Given the description of an element on the screen output the (x, y) to click on. 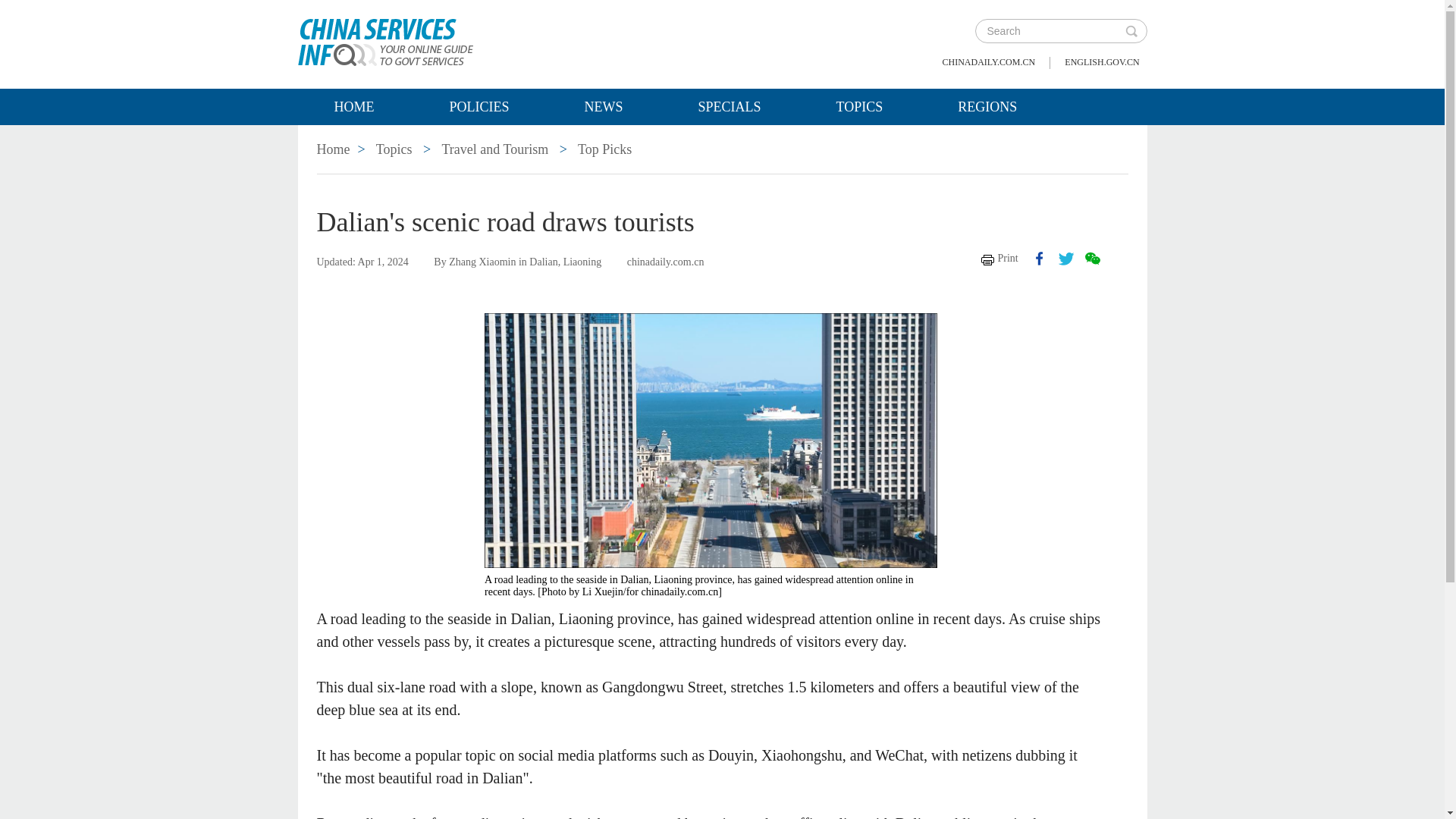
HOME (353, 106)
english.gov.cn (1101, 61)
Top Picks (604, 149)
News (603, 106)
Policies (478, 106)
facebook (1038, 258)
Home (333, 149)
CHINADAILY.COM.CN (988, 61)
chinadaily.com.cn (988, 61)
NEWS (603, 106)
print (999, 258)
Home (353, 106)
Topics (859, 106)
TOPICS (859, 106)
Specials (729, 106)
